Given the description of an element on the screen output the (x, y) to click on. 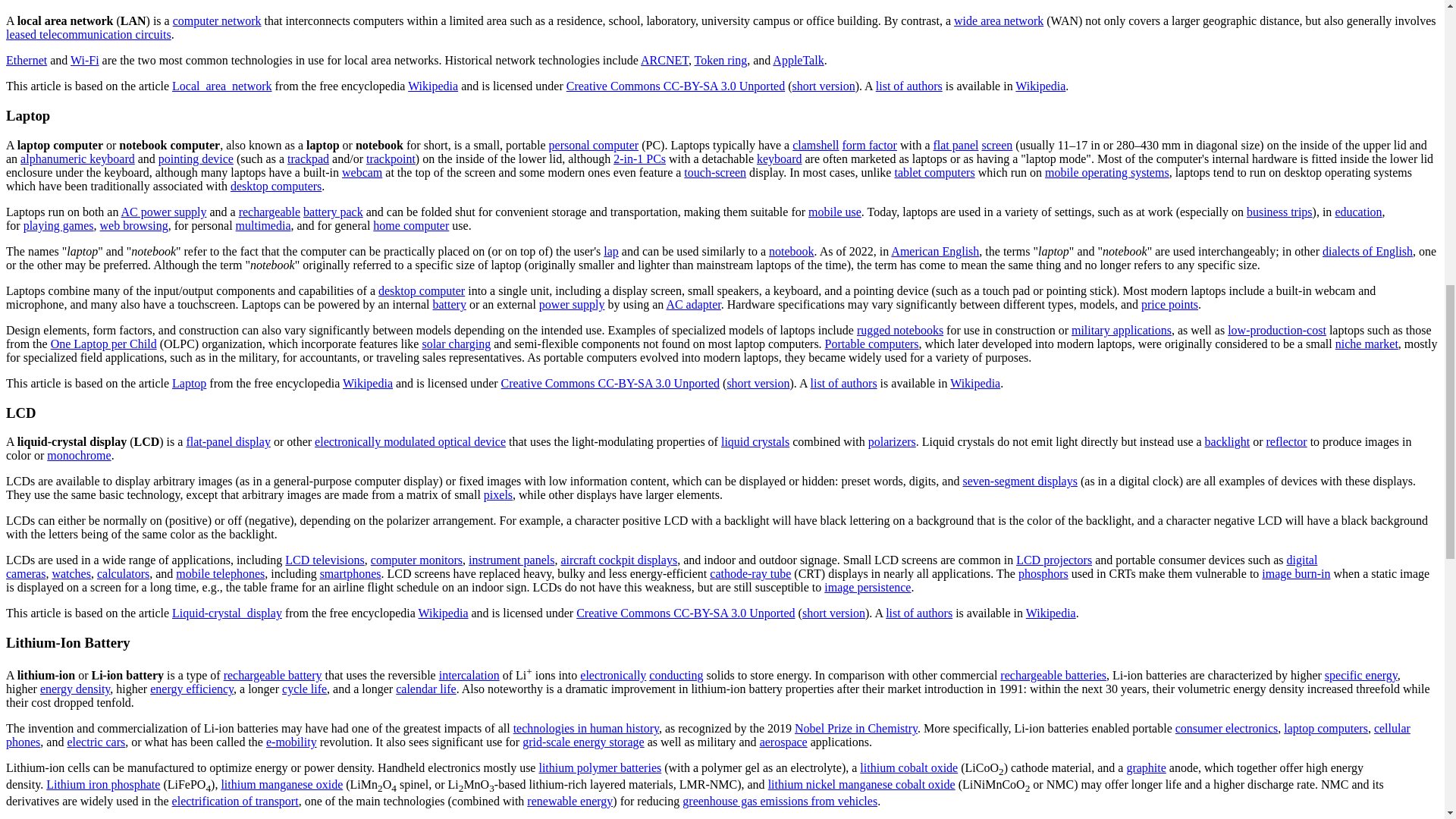
AppleTalk (798, 60)
Wide area network (998, 20)
Ethernet (25, 60)
Computer screen (996, 144)
Flat panel (955, 144)
Leased line (88, 33)
Clamshell design (815, 144)
Pointing device (195, 158)
Computer network (217, 20)
Personal computer (593, 144)
